Given the description of an element on the screen output the (x, y) to click on. 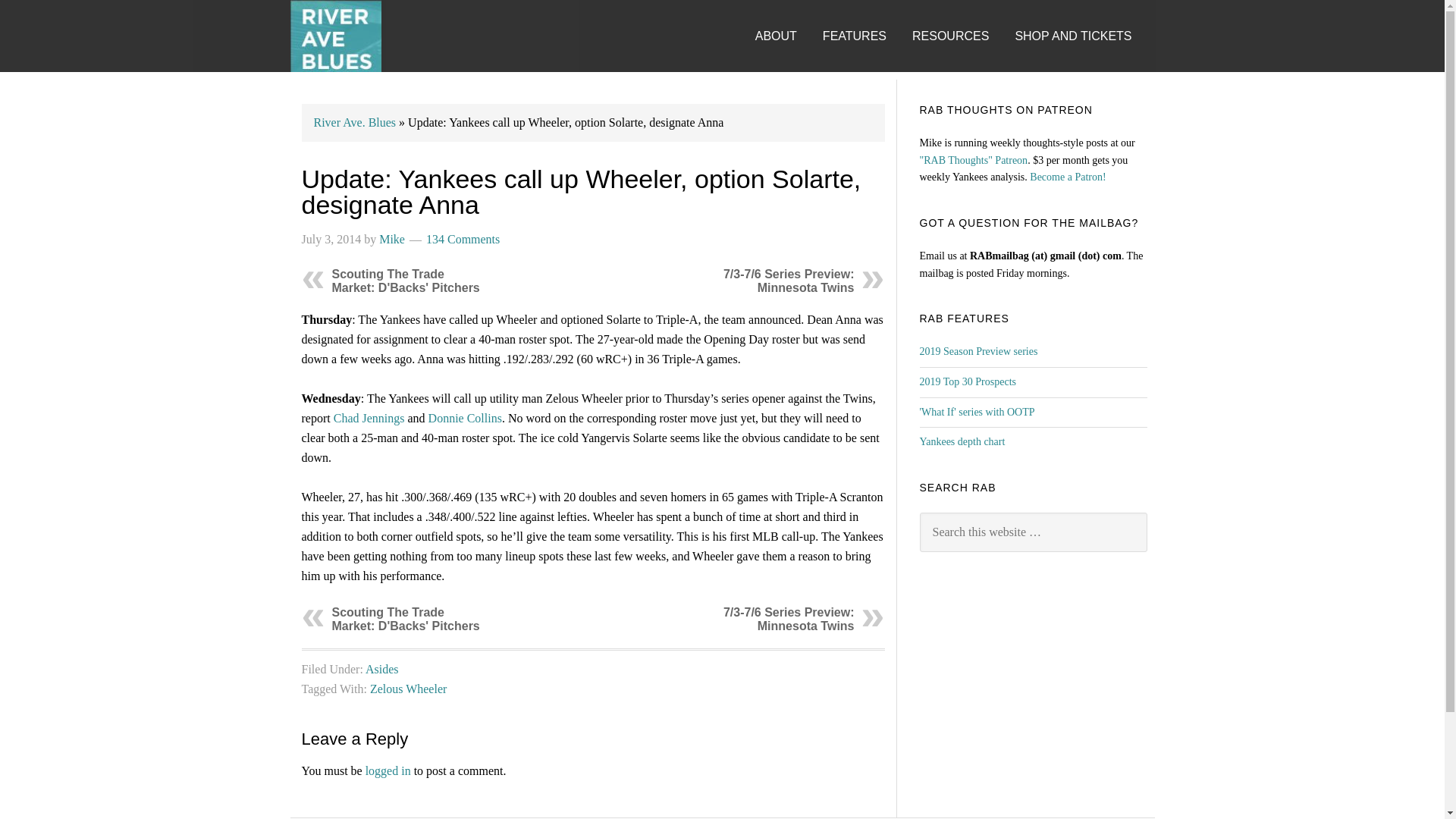
Yankees depth chart (961, 441)
River Ave. Blues (355, 122)
Scouting The Trade Market: D'Backs' Pitchers (405, 619)
Chad Jennings (368, 418)
RIVER AVENUE BLUES (334, 36)
Mike (391, 238)
Zelous Wheeler (407, 688)
2019 Top 30 Prospects (966, 381)
134 Comments (462, 238)
Asides (381, 668)
Scouting The Trade Market: D'Backs' Pitchers (405, 280)
SHOP AND TICKETS (1084, 21)
FEATURES (865, 21)
'What If' series with OOTP (975, 411)
